Given the description of an element on the screen output the (x, y) to click on. 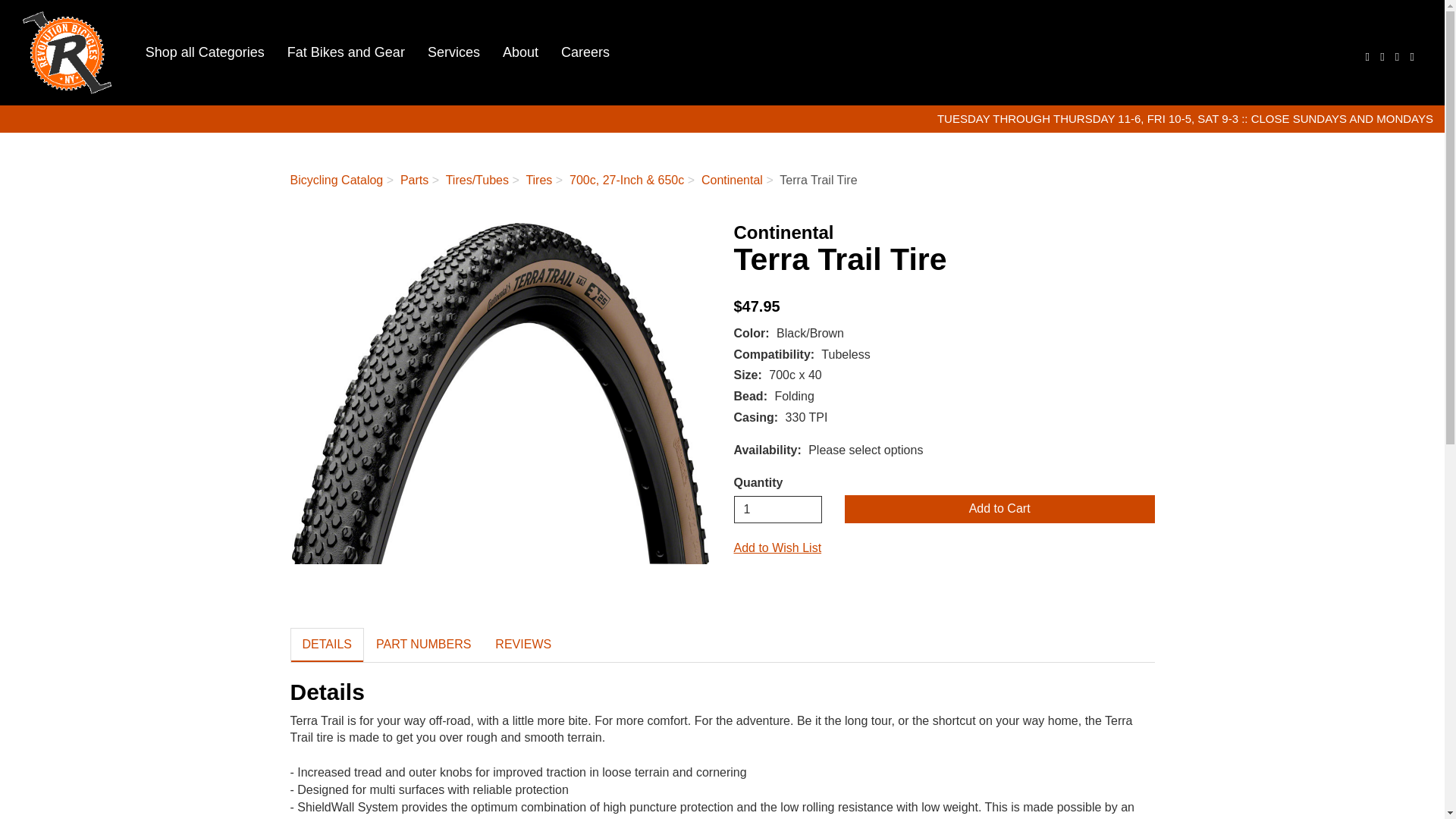
Shop all Categories (204, 51)
1 (777, 509)
Revolution Bicycles Home Page (67, 52)
